Given the description of an element on the screen output the (x, y) to click on. 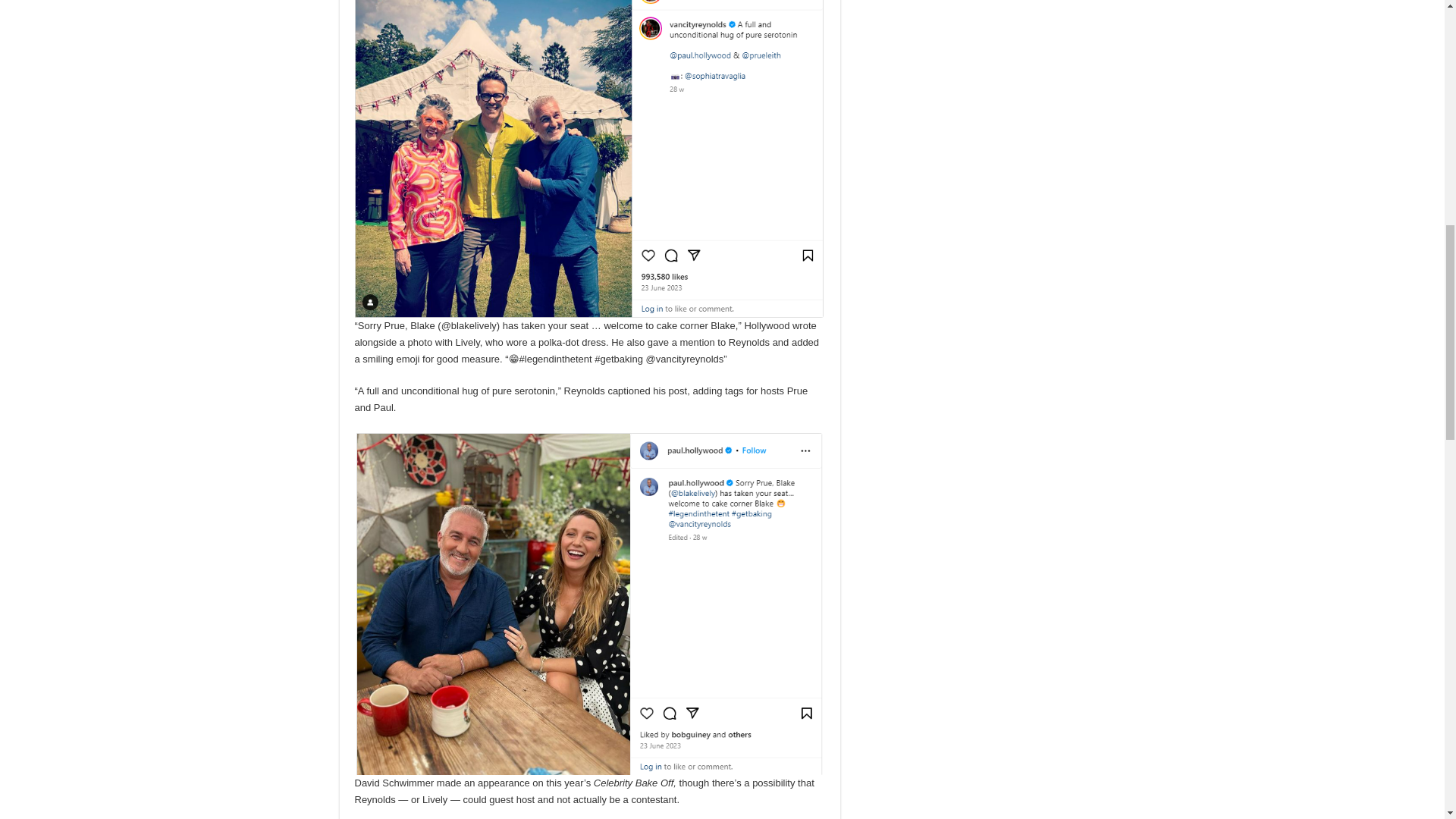
Scroll To Top (1421, 60)
